Given the description of an element on the screen output the (x, y) to click on. 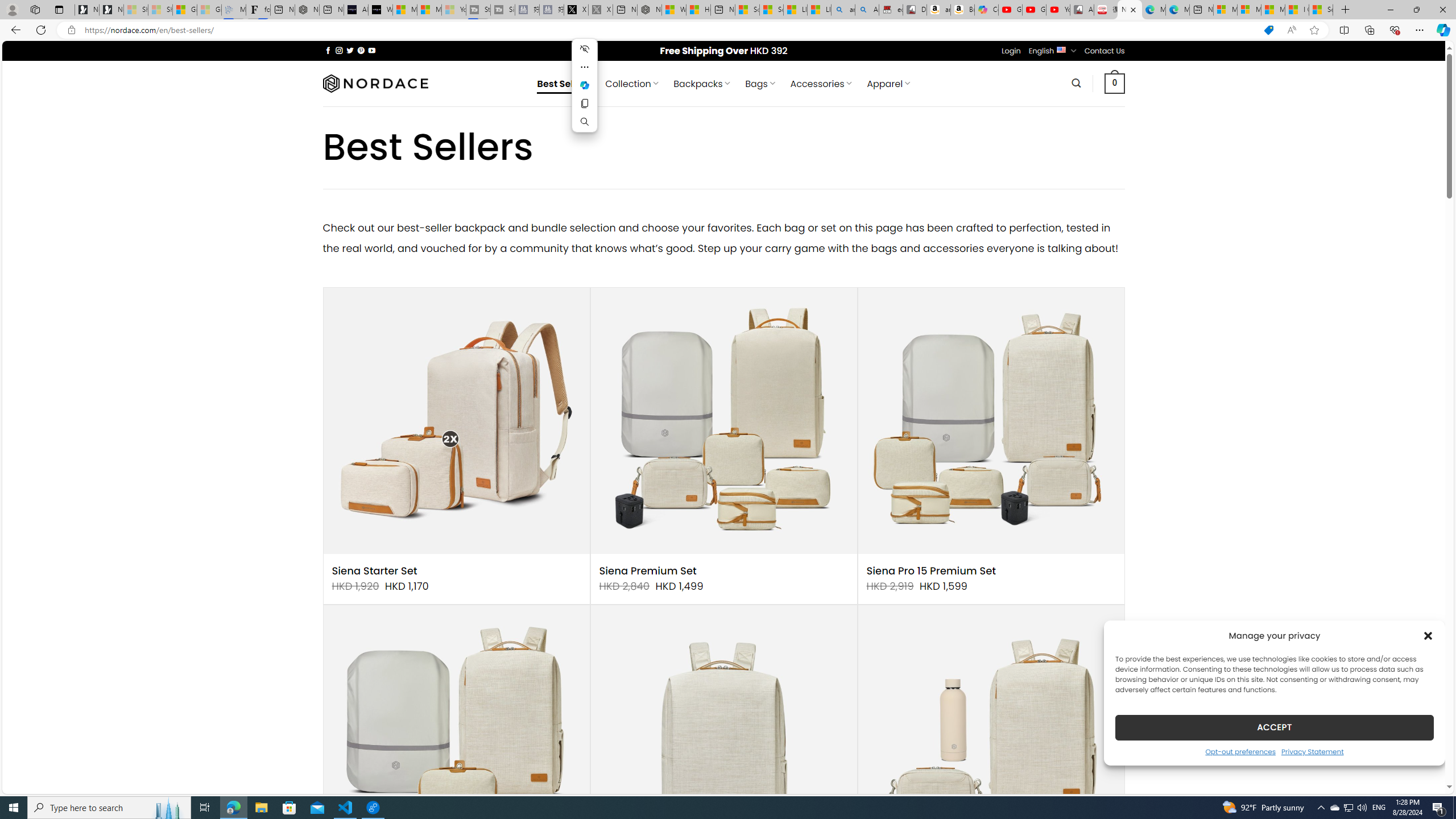
Follow on Twitter (349, 49)
Hide menu (584, 49)
Nordace - #1 Japanese Best-Seller - Siena Smart Backpack (306, 9)
Copilot (986, 9)
Login (1010, 50)
All Cubot phones (1082, 9)
English (1061, 49)
Follow on Pinterest (360, 49)
Address and search bar (669, 29)
